Given the description of an element on the screen output the (x, y) to click on. 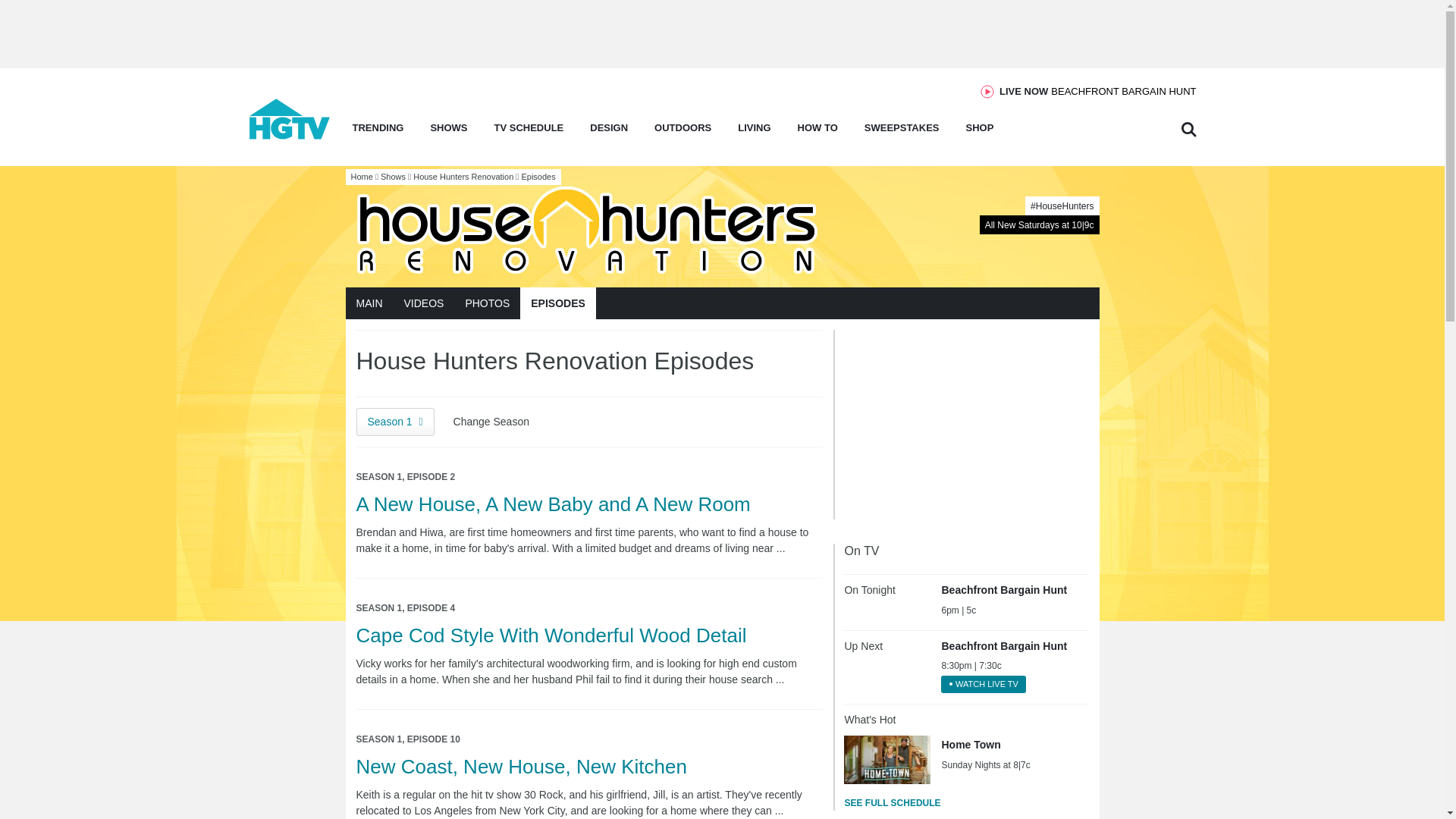
home (289, 135)
3rd party ad content (957, 424)
Home Town (887, 759)
3rd party ad content (1096, 91)
